Given the description of an element on the screen output the (x, y) to click on. 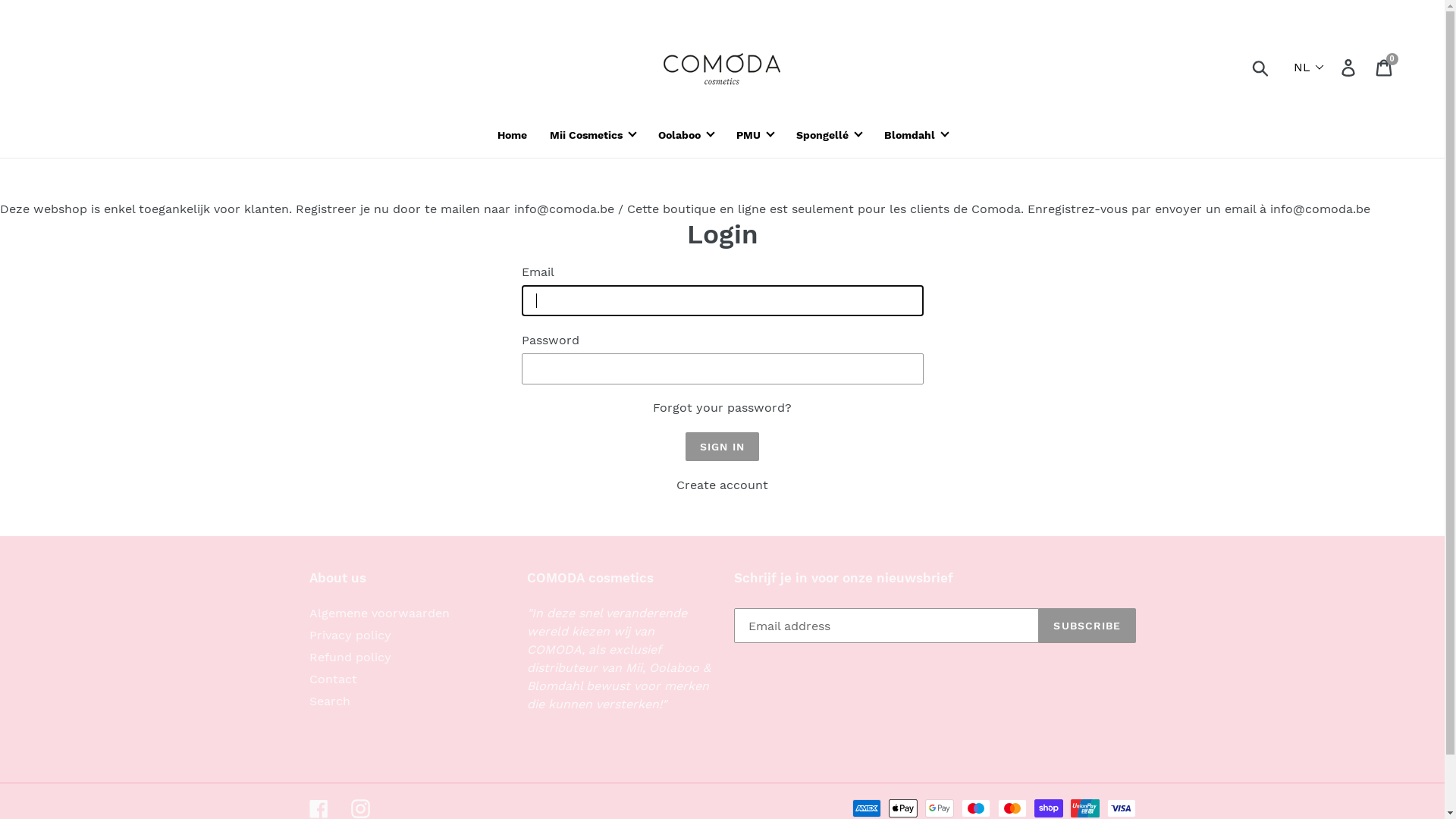
Algemene voorwaarden Element type: text (379, 612)
Forgot your password? Element type: text (721, 407)
Search Element type: text (329, 700)
Create account Element type: text (722, 484)
PMU Element type: text (754, 134)
Oolaboo Element type: text (685, 134)
Blomdahl Element type: text (915, 134)
Contact Element type: text (333, 678)
Refund policy Element type: text (350, 656)
SUBSCRIBE Element type: text (1086, 625)
Home Element type: text (511, 134)
Cart
0 Element type: text (1384, 67)
Mii Cosmetics Element type: text (592, 134)
Log in Element type: text (1349, 67)
Privacy policy Element type: text (350, 634)
Submit Element type: text (1261, 67)
Sign In Element type: text (722, 446)
